Given the description of an element on the screen output the (x, y) to click on. 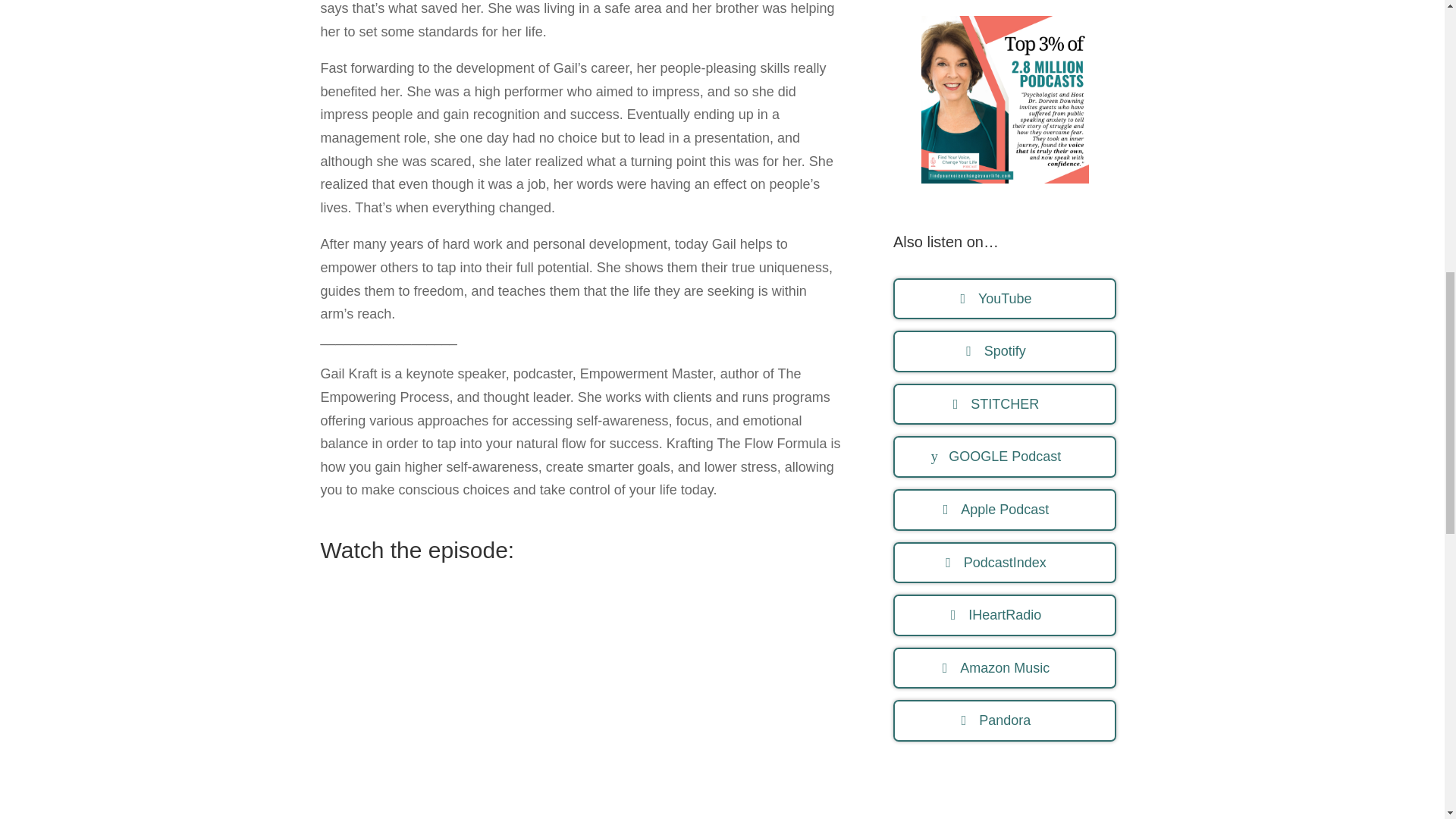
Spotify (1004, 351)
Pandora (1004, 721)
YouTube video player (580, 708)
GOOGLE Podcast (1004, 456)
STITCHER (1004, 404)
YouTube (1004, 299)
IHeartRadio (1004, 615)
Apple Podcast (1004, 509)
PodcastIndex (1004, 562)
Amazon Music (1004, 668)
